Given the description of an element on the screen output the (x, y) to click on. 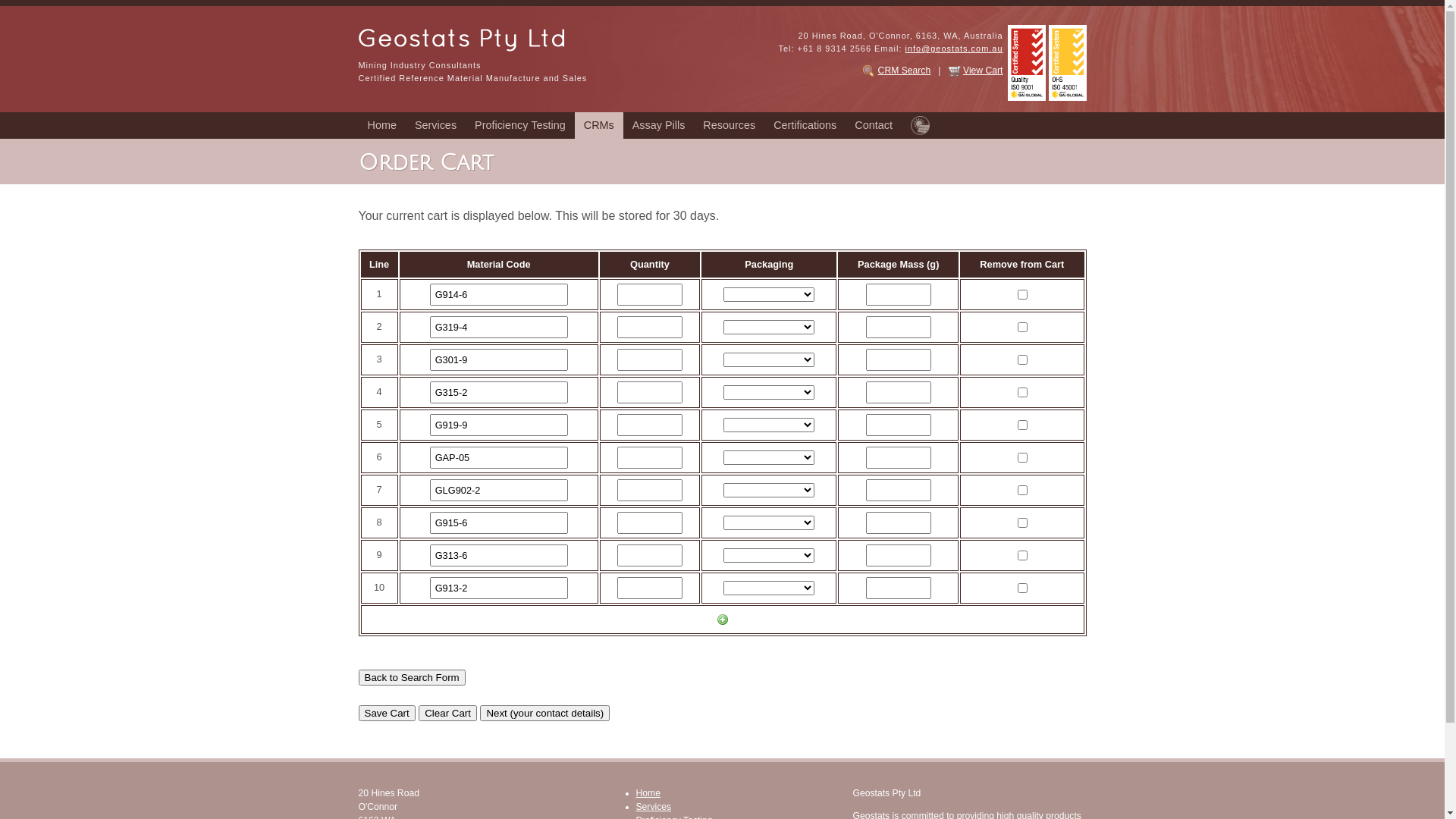
Certifications Element type: text (804, 125)
CRM Search Element type: text (904, 70)
info@geostats.com.au Element type: text (954, 48)
Next (your contact details) Element type: text (544, 713)
Services Element type: text (653, 806)
Home Element type: text (647, 792)
Assay Pills Element type: text (658, 125)
View Cart Element type: text (982, 70)
Home Element type: text (380, 125)
Services Element type: text (435, 125)
Contact Element type: text (873, 125)
CRMs Element type: text (598, 125)
Back to Search Form Element type: text (410, 677)
Save Cart Element type: text (385, 713)
Proficiency Testing Element type: text (519, 125)
Clear Cart Element type: text (447, 713)
Resources Element type: text (728, 125)
AddItem Element type: text (722, 619)
